Given the description of an element on the screen output the (x, y) to click on. 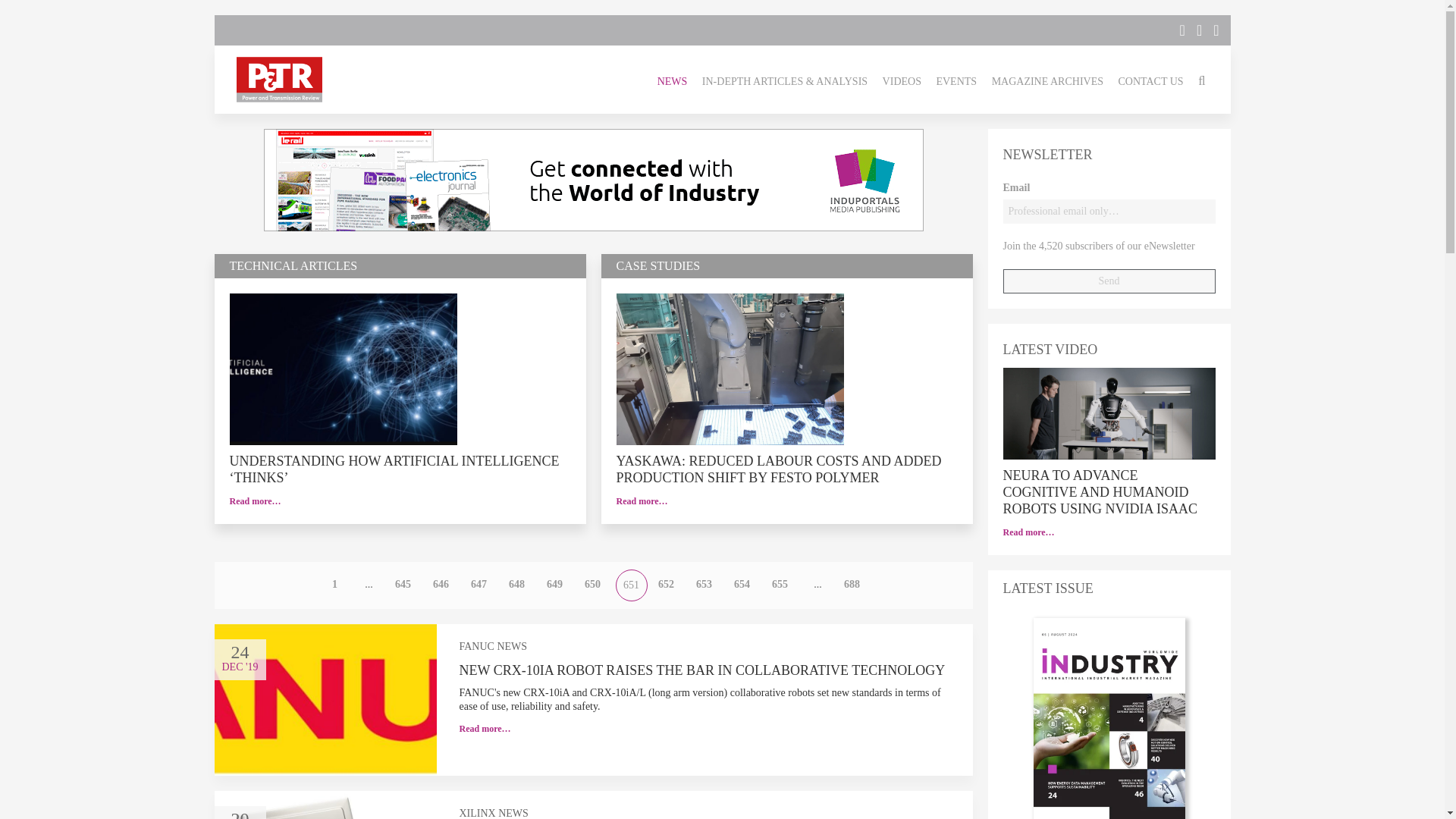
NEWS (672, 79)
688 (852, 584)
MAGAZINE ARCHIVES (1047, 79)
647 (479, 584)
CONTACT US (1150, 79)
649 (555, 584)
645 (403, 584)
655 (779, 584)
654 (741, 584)
652 (665, 584)
